Given the description of an element on the screen output the (x, y) to click on. 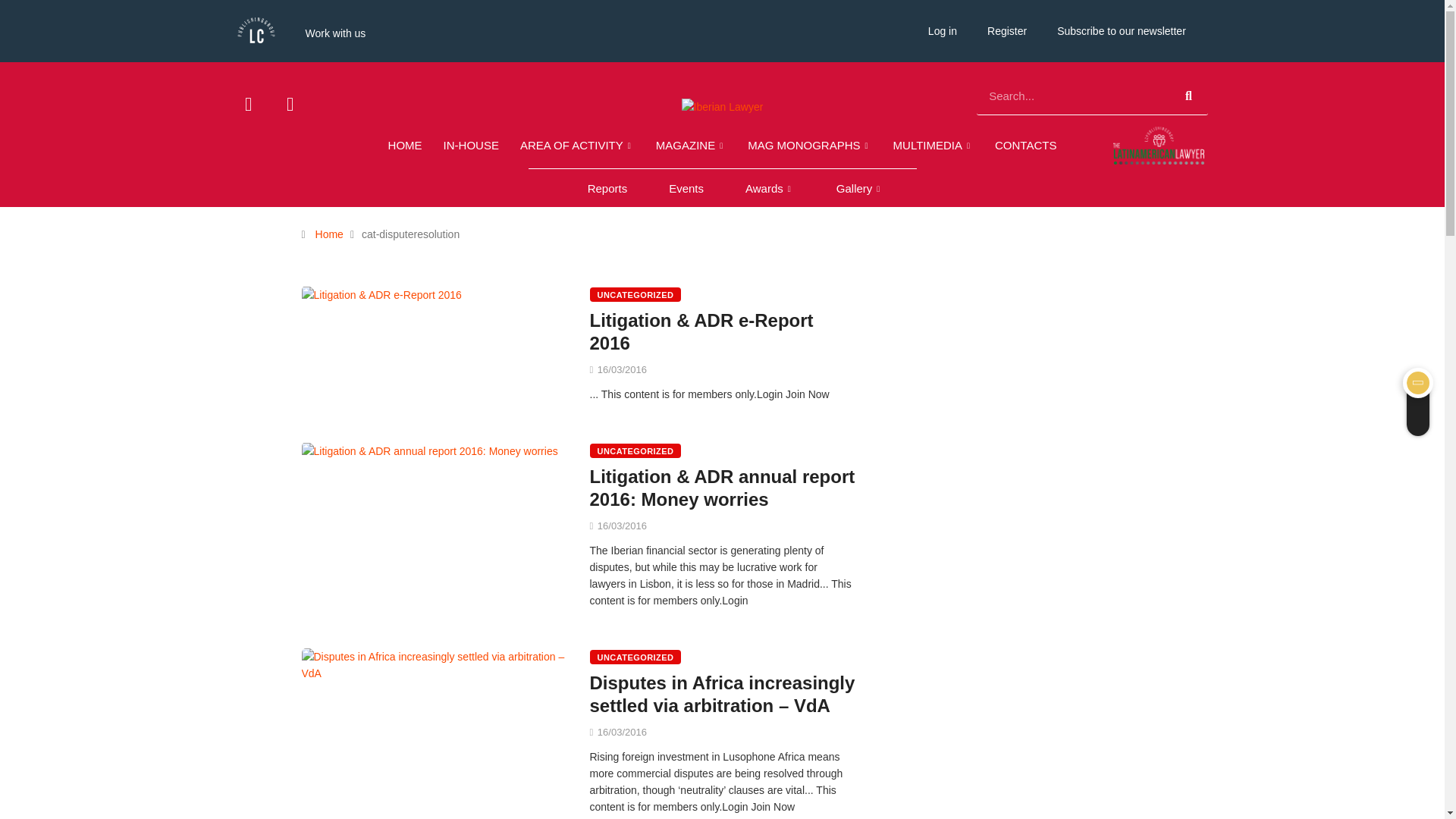
HOME (404, 145)
Register (1007, 30)
Work with us (334, 33)
Subscribe to our newsletter (1121, 30)
Log in (942, 30)
